Given the description of an element on the screen output the (x, y) to click on. 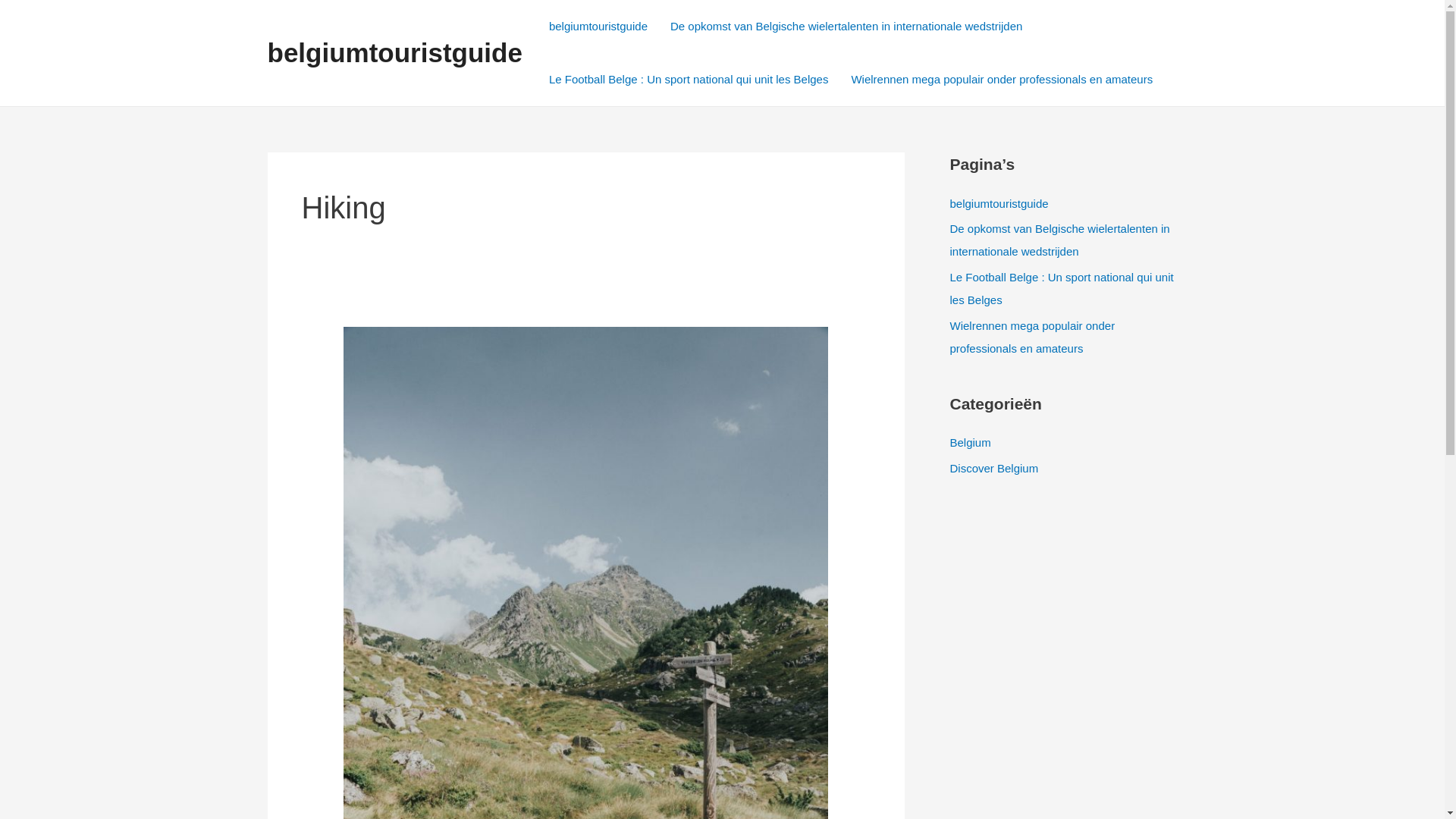
Wielrennen mega populair onder professionals en amateurs Element type: text (1001, 79)
Le Football Belge : Un sport national qui unit les Belges Element type: text (1061, 288)
Wielrennen mega populair onder professionals en amateurs Element type: text (1031, 336)
Discover Belgium Element type: text (993, 467)
Belgium Element type: text (969, 442)
Le Football Belge : Un sport national qui unit les Belges Element type: text (688, 79)
belgiumtouristguide Element type: text (597, 26)
belgiumtouristguide Element type: text (998, 203)
belgiumtouristguide Element type: text (393, 52)
